Given the description of an element on the screen output the (x, y) to click on. 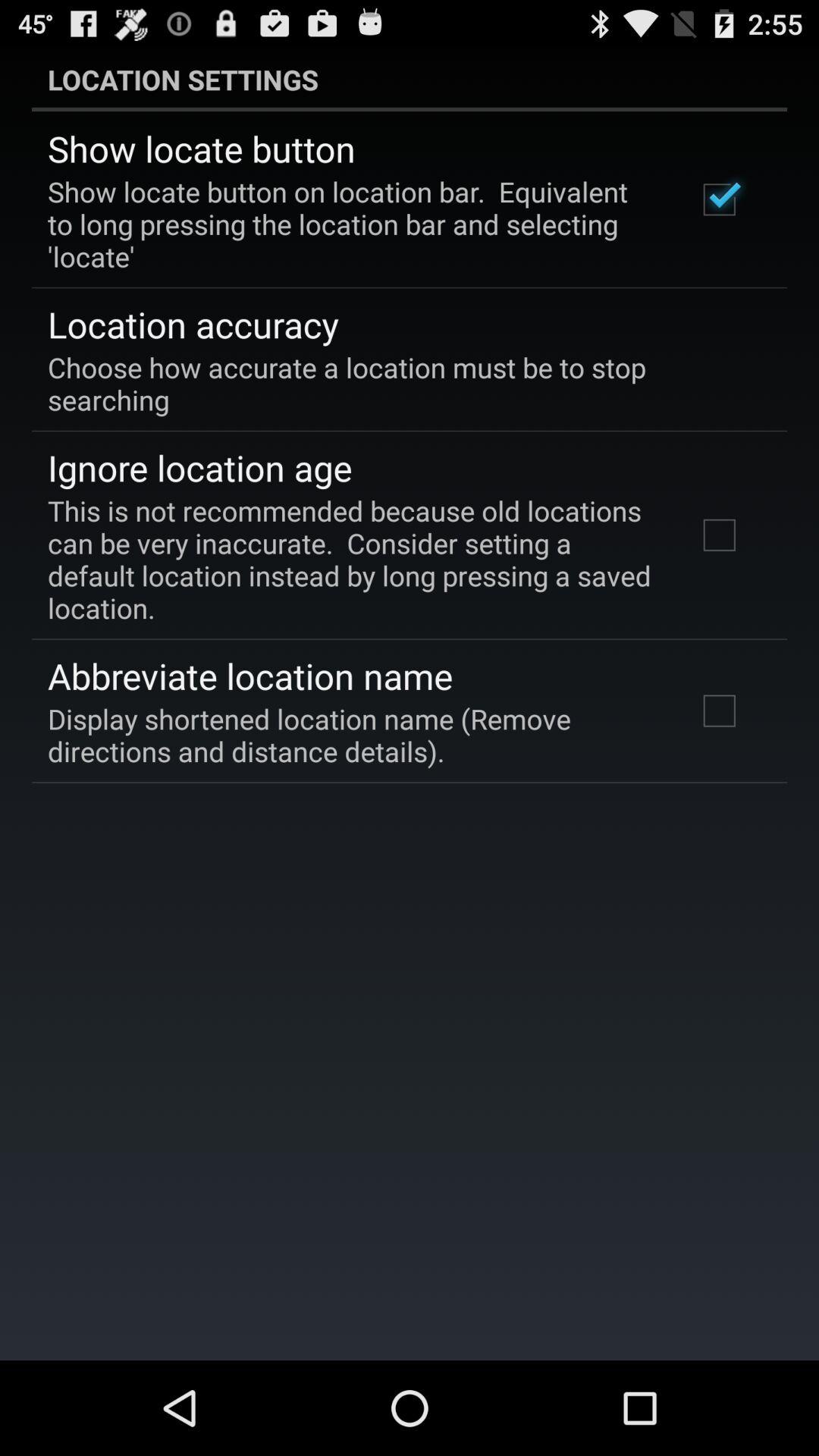
launch the icon above this is not icon (199, 467)
